Given the description of an element on the screen output the (x, y) to click on. 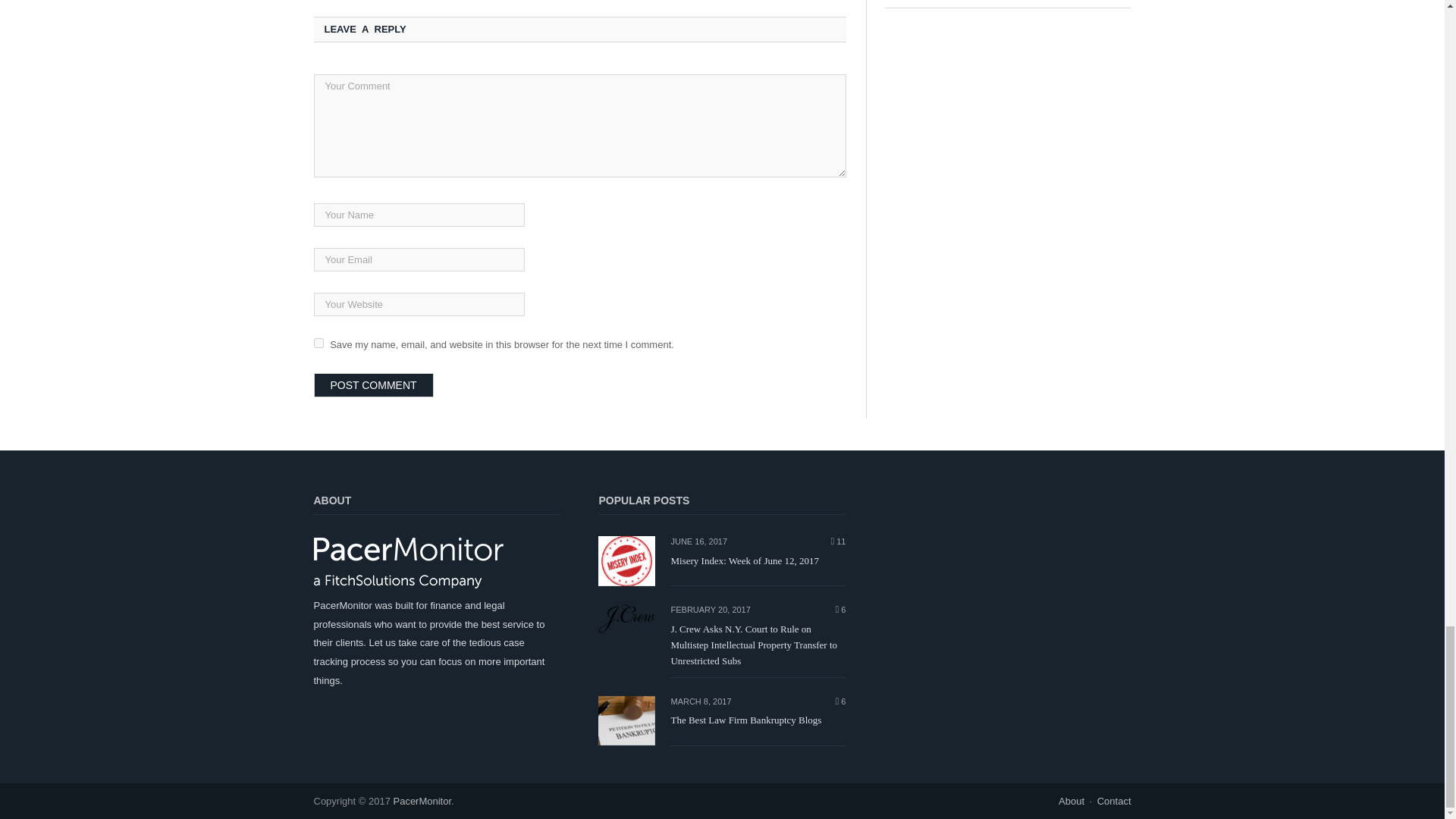
yes (318, 343)
Post Comment (373, 385)
